Given the description of an element on the screen output the (x, y) to click on. 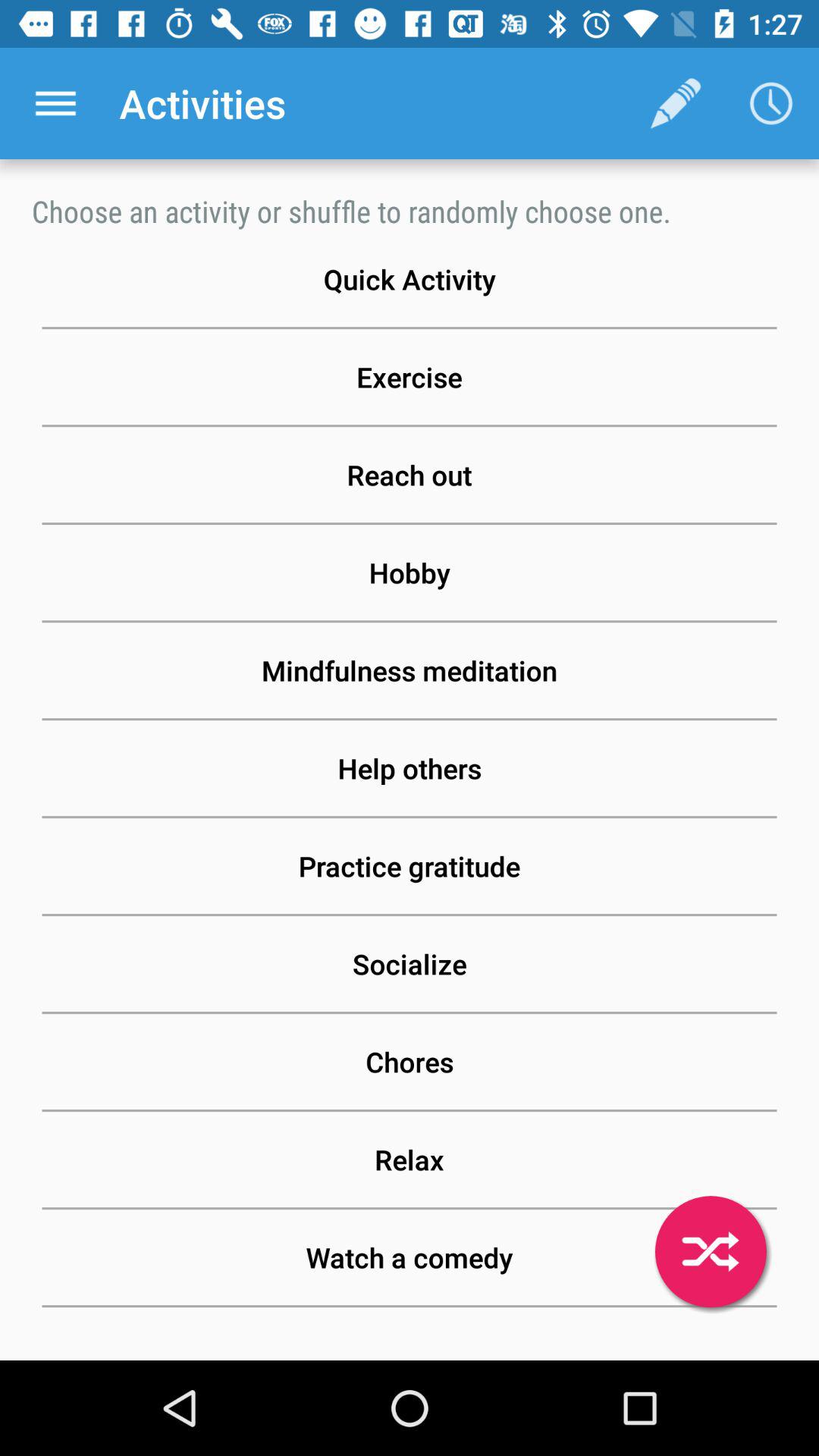
launch the relax button (409, 1159)
